Given the description of an element on the screen output the (x, y) to click on. 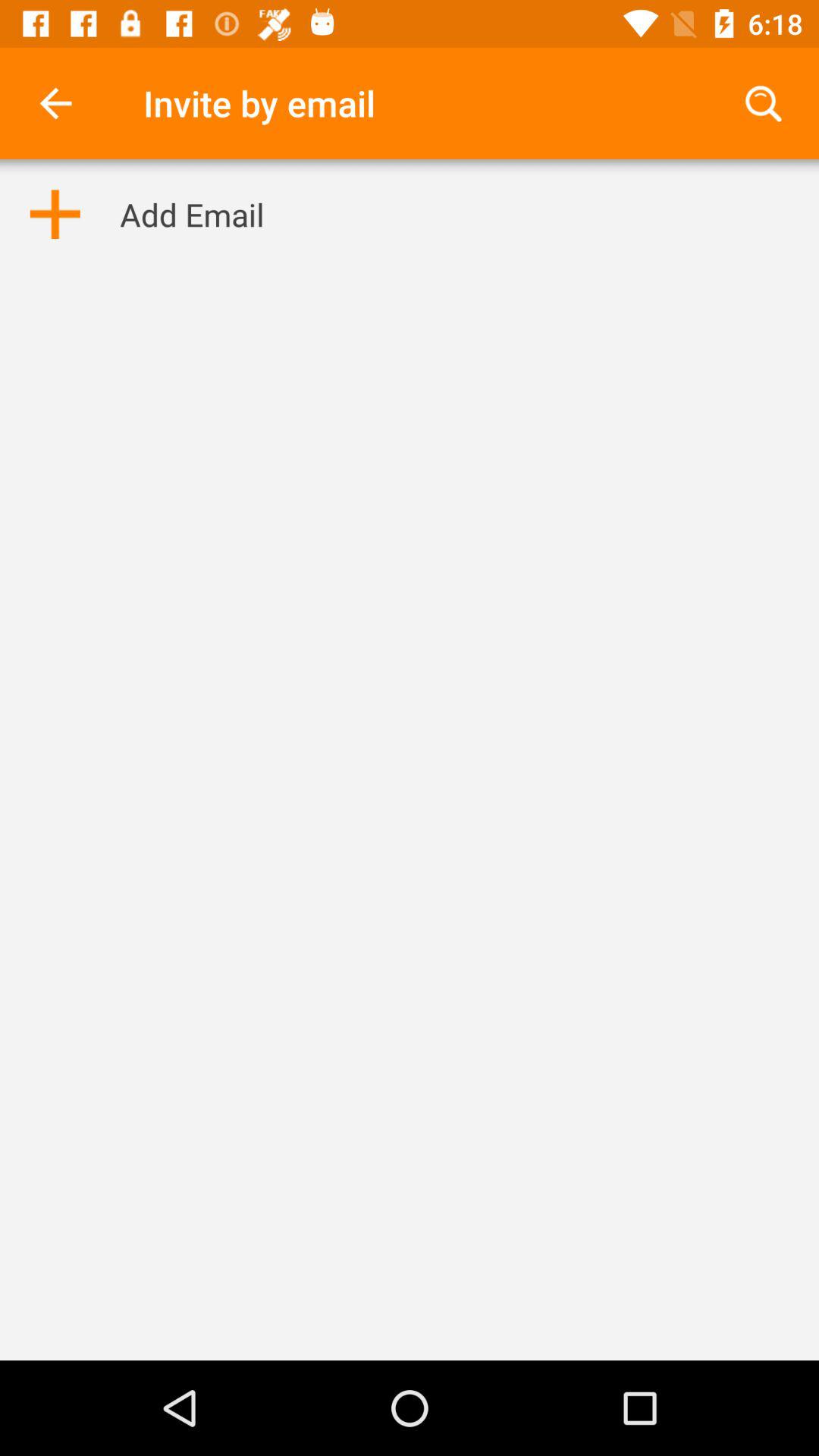
turn off the add email item (192, 214)
